Given the description of an element on the screen output the (x, y) to click on. 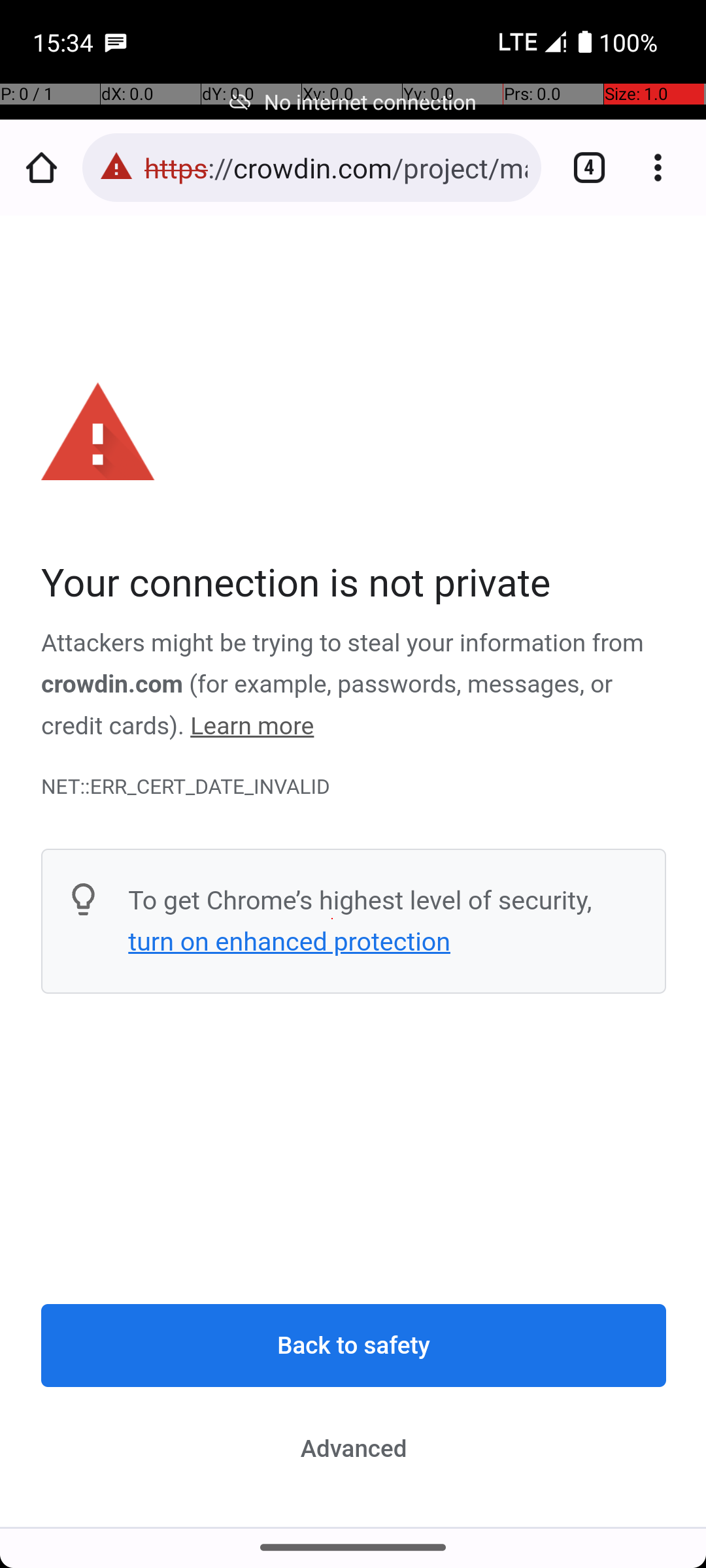
https://crowdin.com/project/markor/invite Element type: android.widget.EditText (335, 167)
crowdin.com Element type: android.widget.TextView (112, 684)
